Given the description of an element on the screen output the (x, y) to click on. 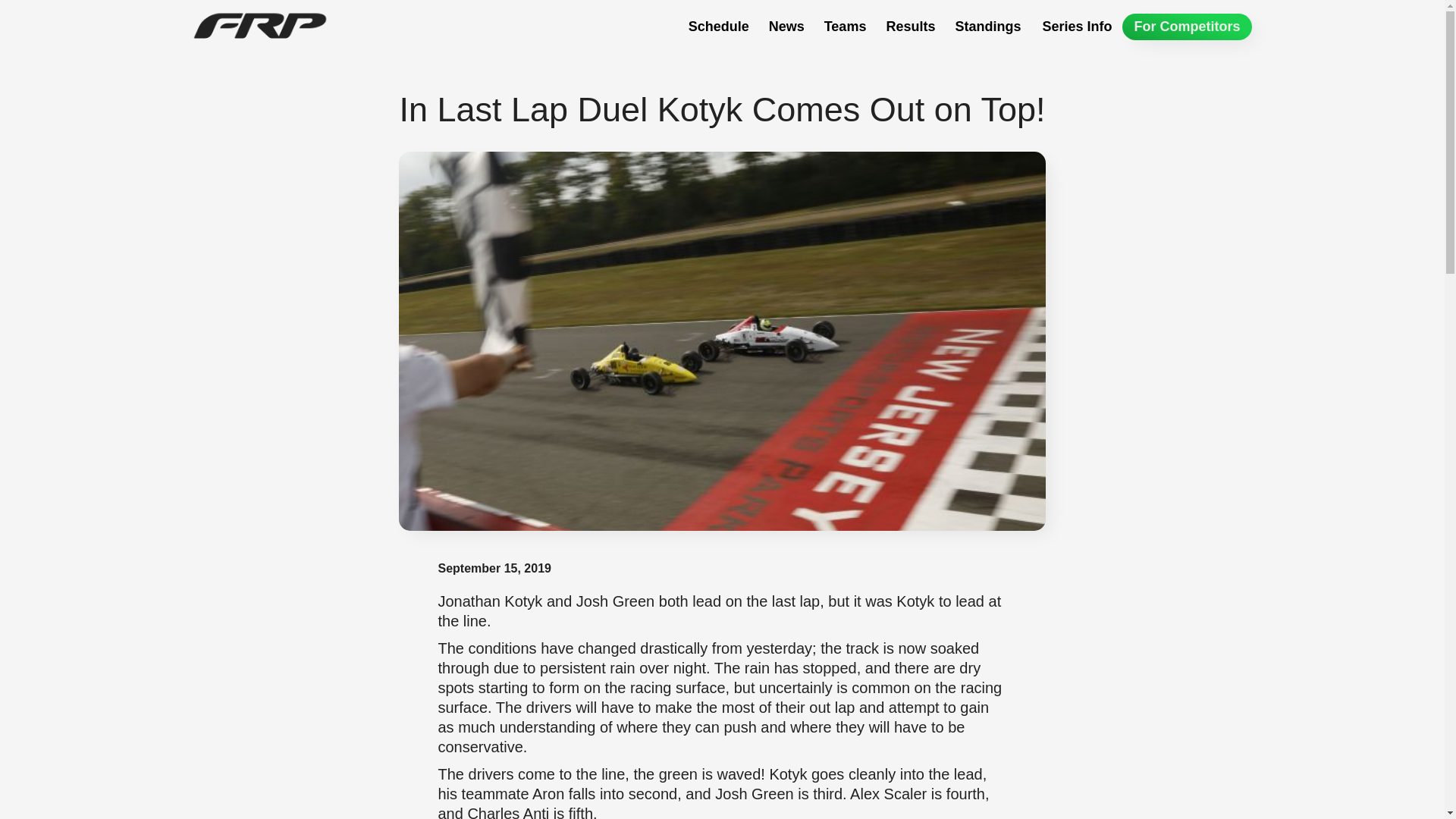
News (786, 26)
Standings (986, 26)
Schedule (718, 26)
